Given the description of an element on the screen output the (x, y) to click on. 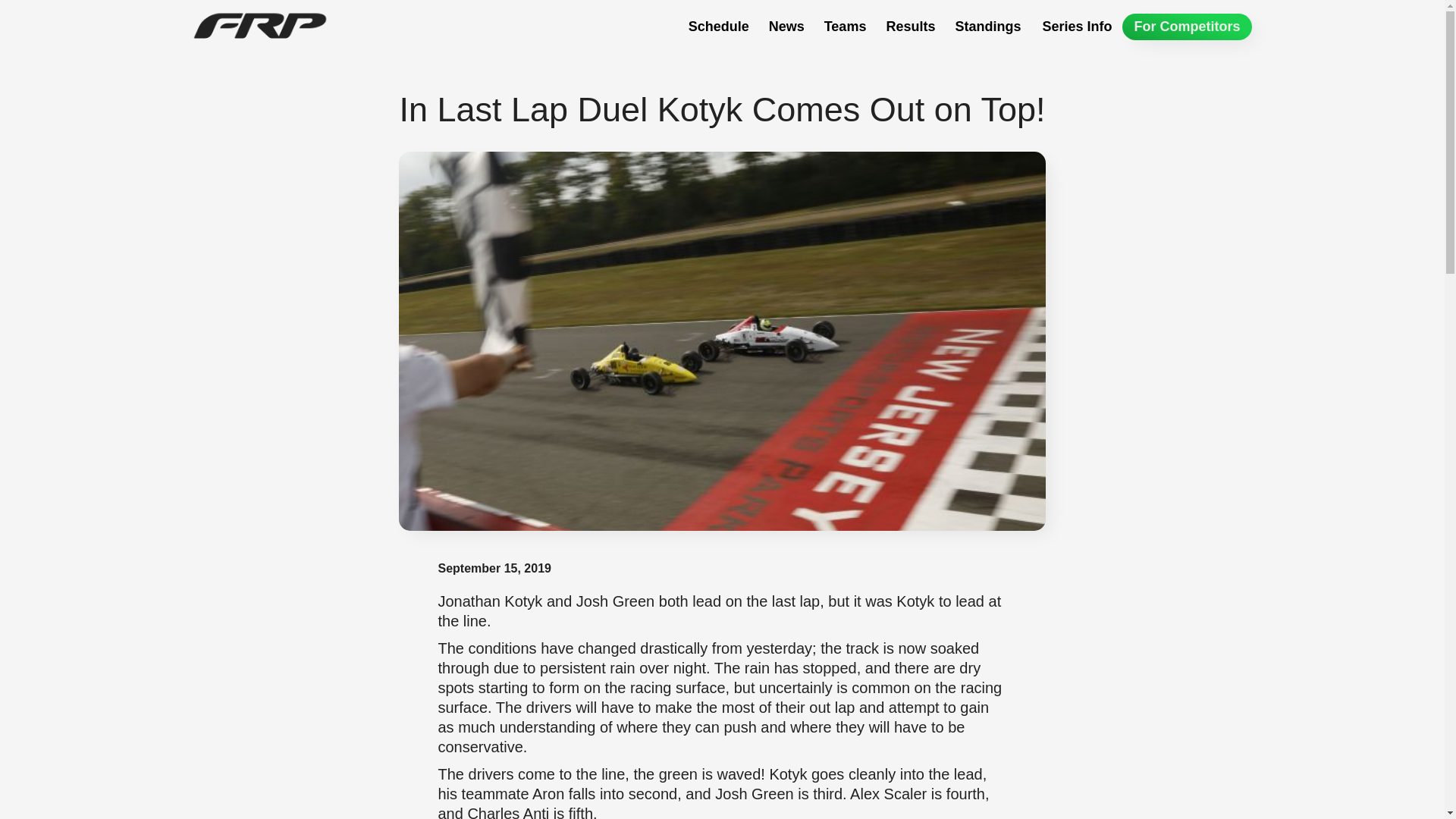
News (786, 26)
Standings (986, 26)
Schedule (718, 26)
